Given the description of an element on the screen output the (x, y) to click on. 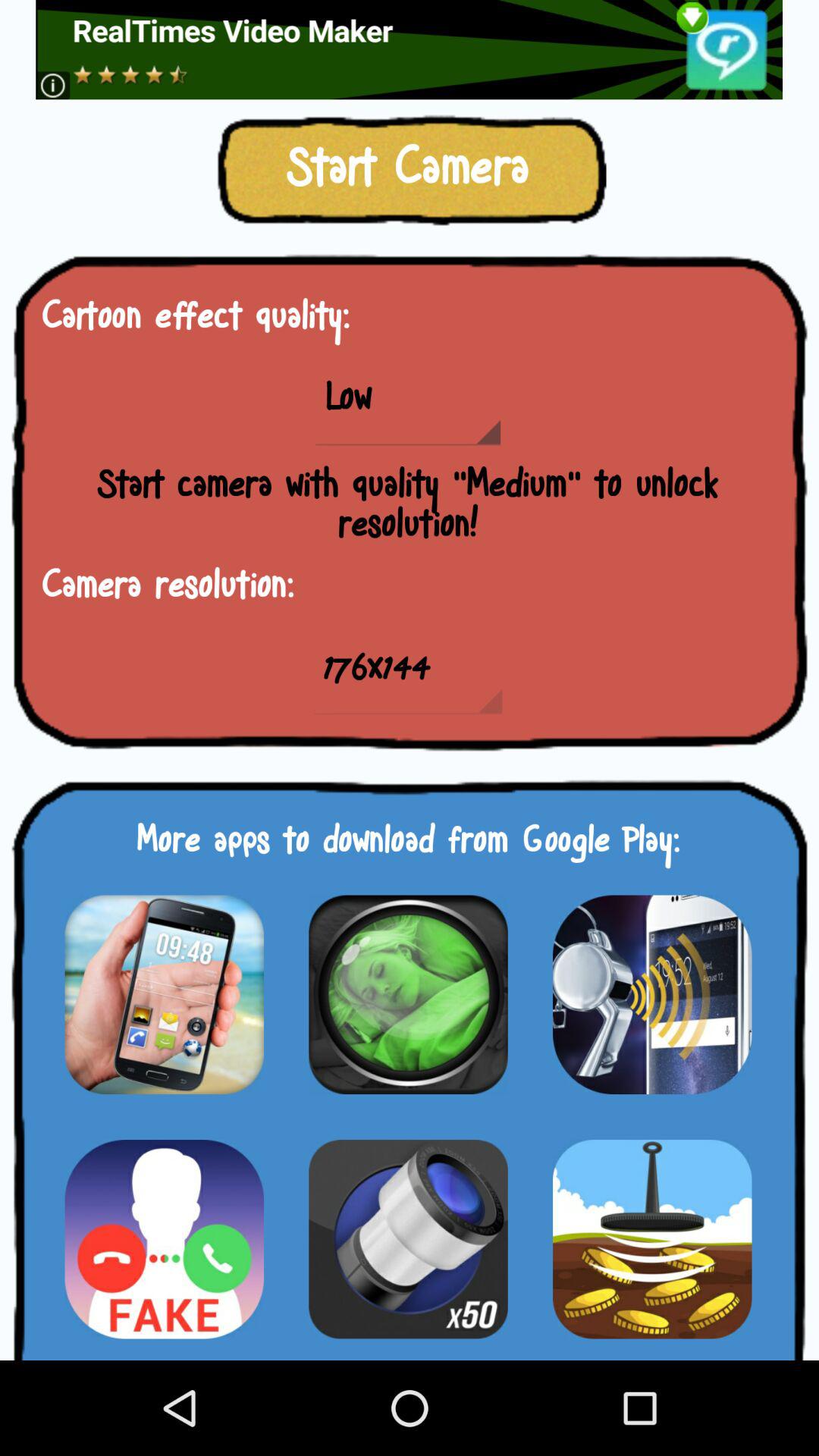
click to app (164, 994)
